Given the description of an element on the screen output the (x, y) to click on. 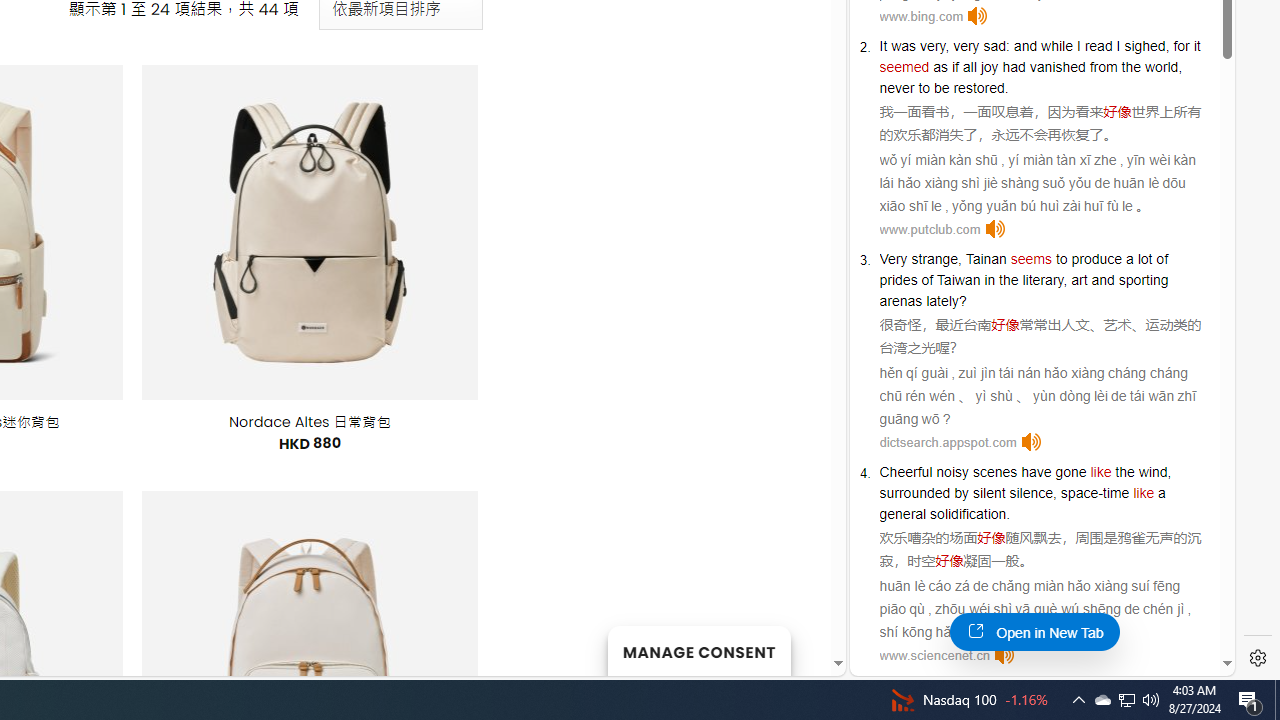
world (1161, 66)
silent silence (1012, 493)
Taiwan (957, 280)
sporting (1142, 280)
www.putclub.com (929, 228)
Cheerful (906, 471)
. (1008, 514)
seemed (904, 66)
surrounded (915, 493)
of (1161, 259)
all (969, 66)
